Given the description of an element on the screen output the (x, y) to click on. 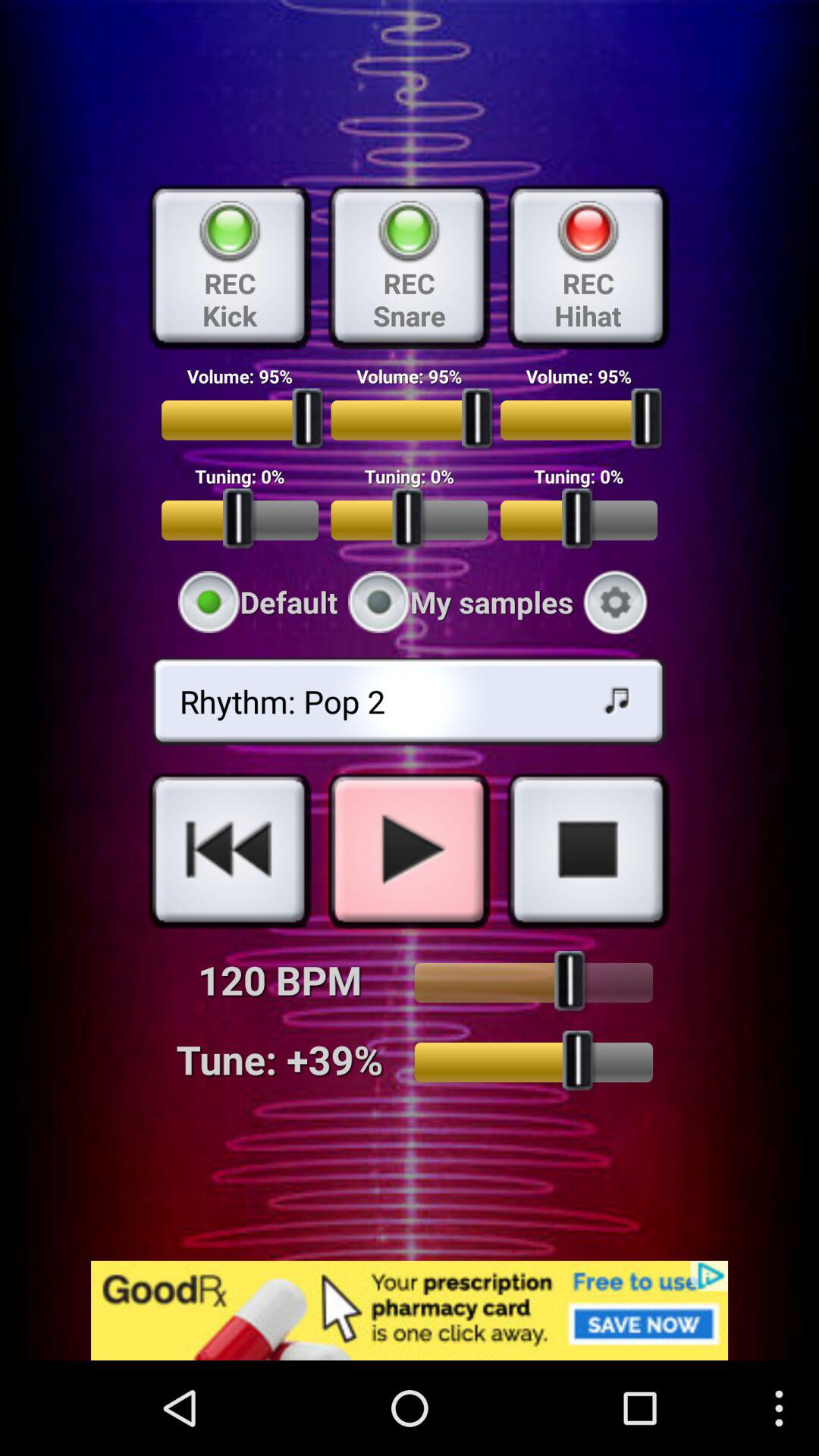
adjust the tuner (533, 1062)
